Given the description of an element on the screen output the (x, y) to click on. 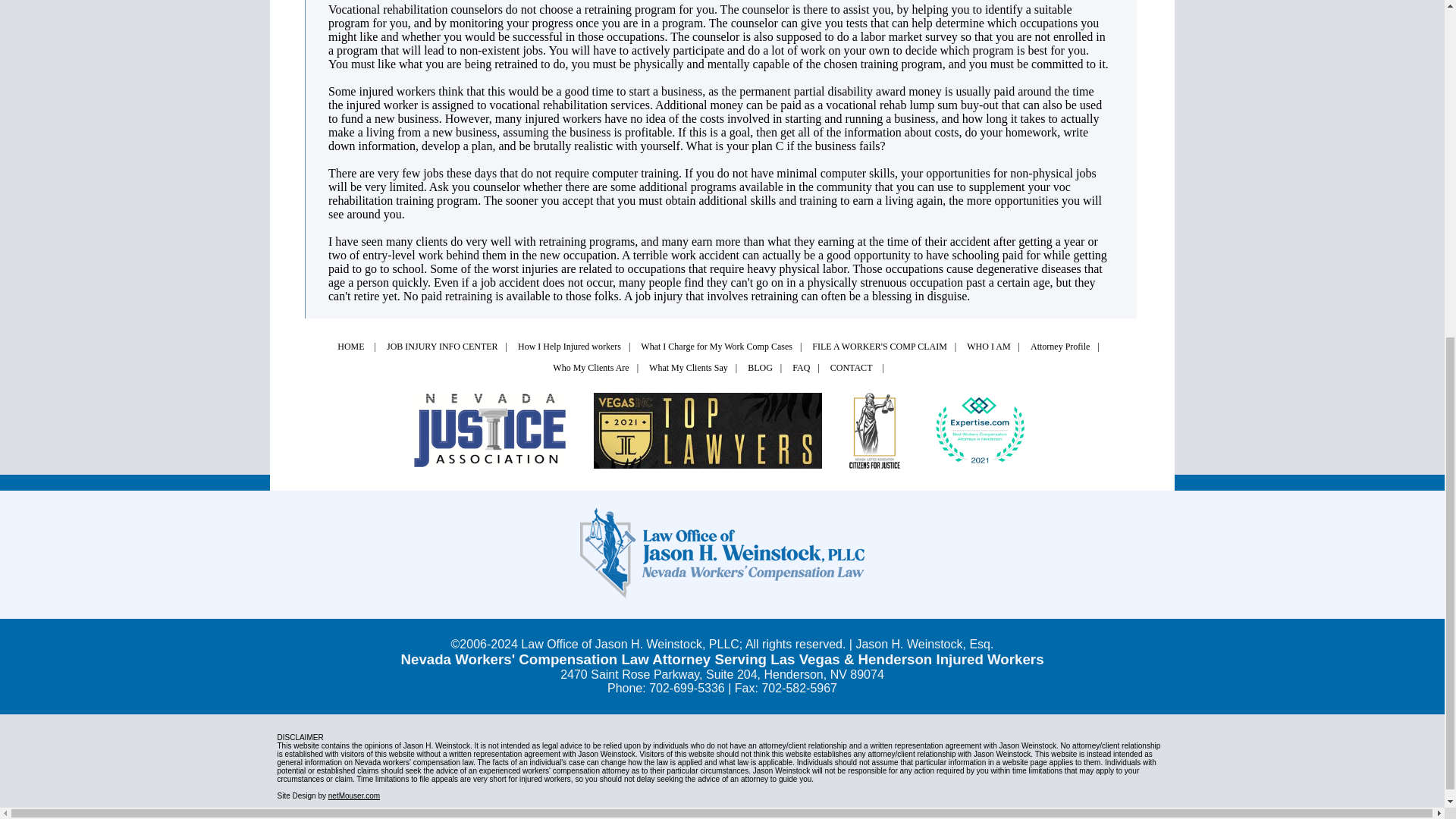
HOME (351, 346)
FILE A WORKER'S COMP CLAIM (879, 346)
How I Help Injured workers (569, 346)
What I Charge for My Work Comp Cases (716, 346)
JOB INJURY INFO CENTER (442, 346)
WHO I AM (988, 346)
